Given the description of an element on the screen output the (x, y) to click on. 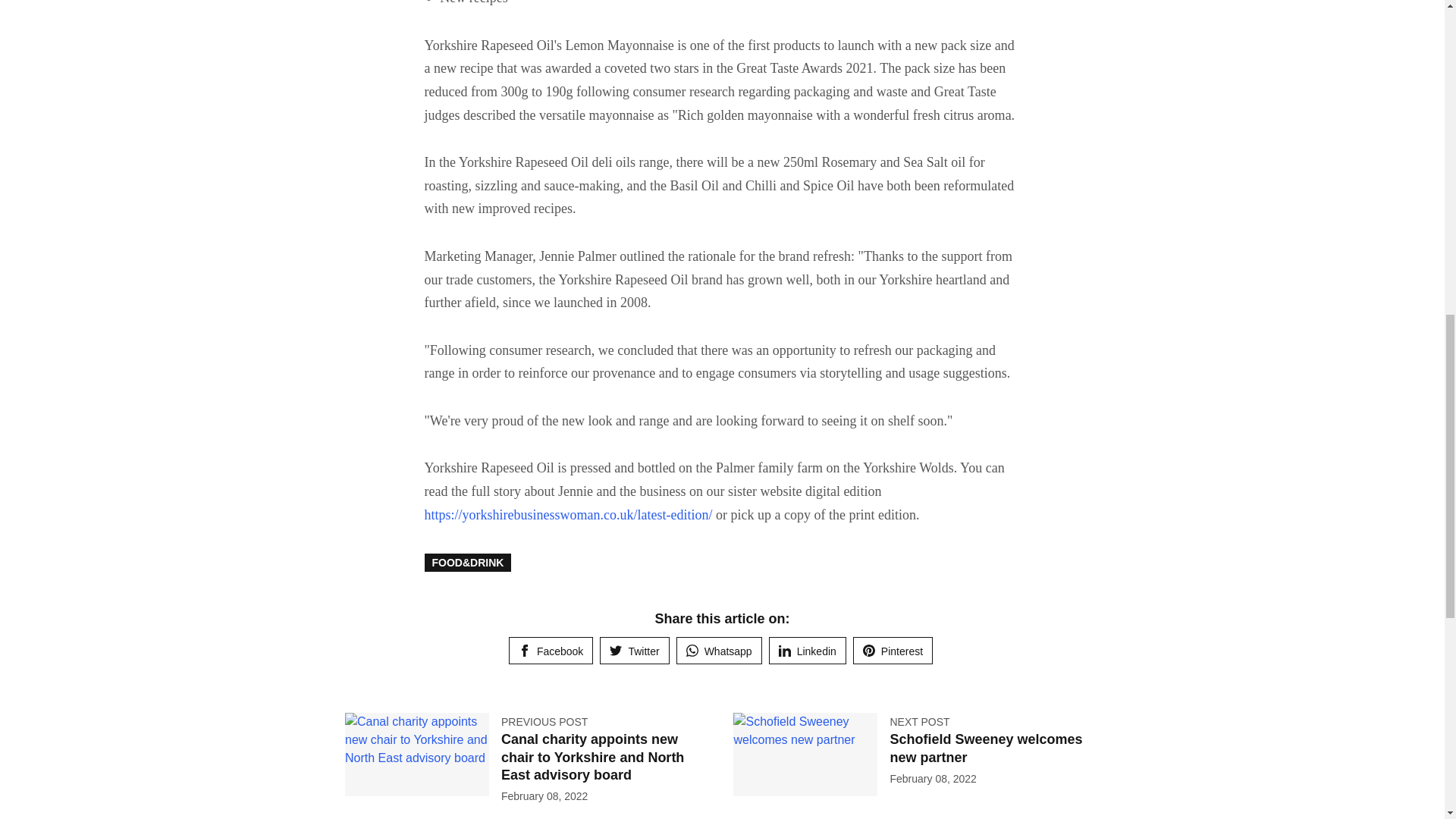
Twitter (633, 650)
PREVIOUS POST (544, 721)
08 February, 2022 (932, 778)
08 February, 2022 (544, 796)
Schofield Sweeney welcomes new partner (985, 748)
Share on Facebook (550, 650)
Linkedin (806, 650)
Share on Whatsapp (719, 650)
Share on Linkedin (806, 650)
Pinterest (893, 650)
NEXT POST (919, 721)
Share on Pinterest (893, 650)
Whatsapp (719, 650)
Facebook (550, 650)
